Given the description of an element on the screen output the (x, y) to click on. 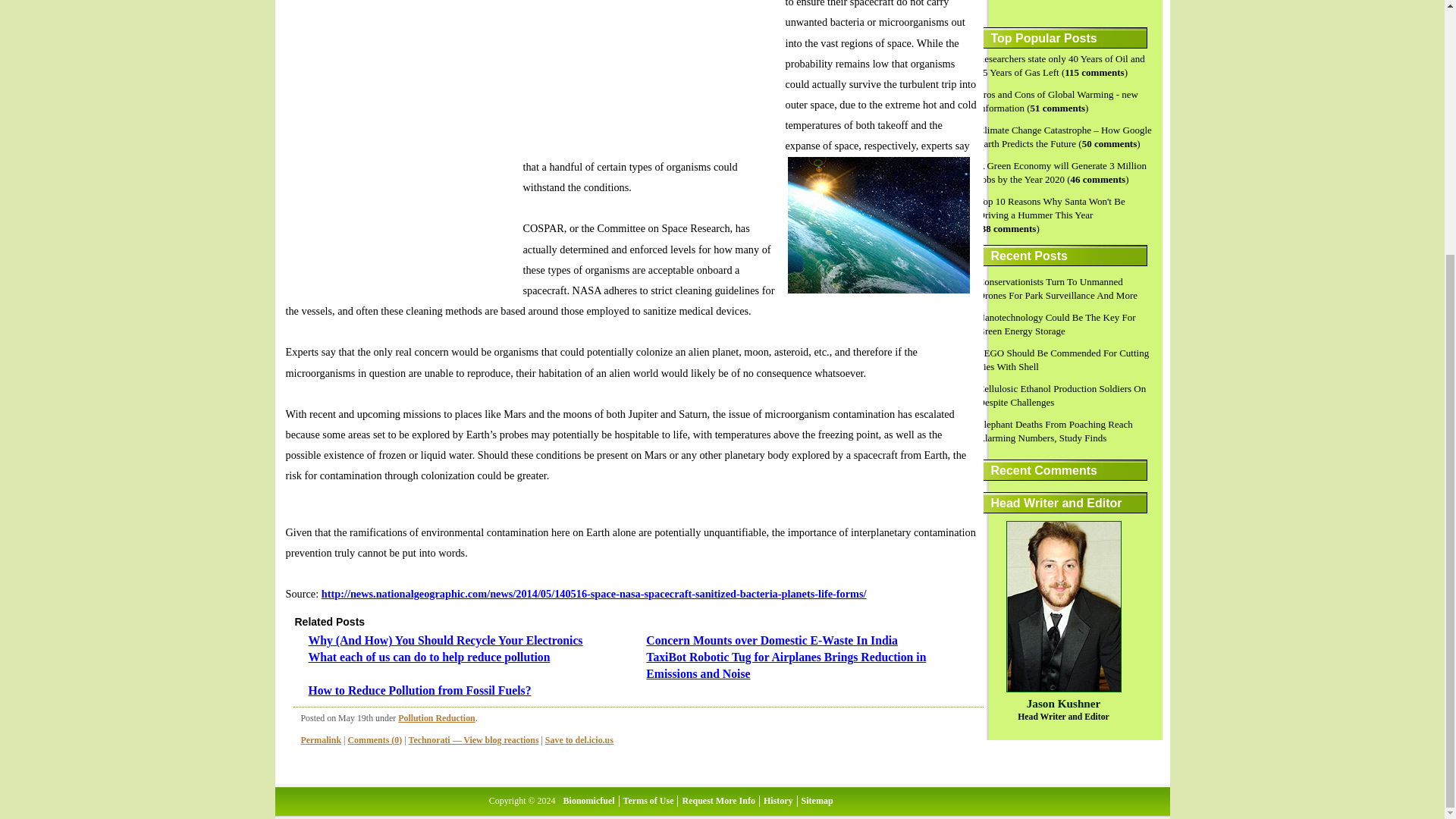
Advertisement (649, 71)
Concern Mounts over Domestic E-Waste In India (772, 640)
What each of us can do to help reduce pollution (428, 656)
How to Reduce Pollution from Fossil Fuels? (419, 689)
